Given the description of an element on the screen output the (x, y) to click on. 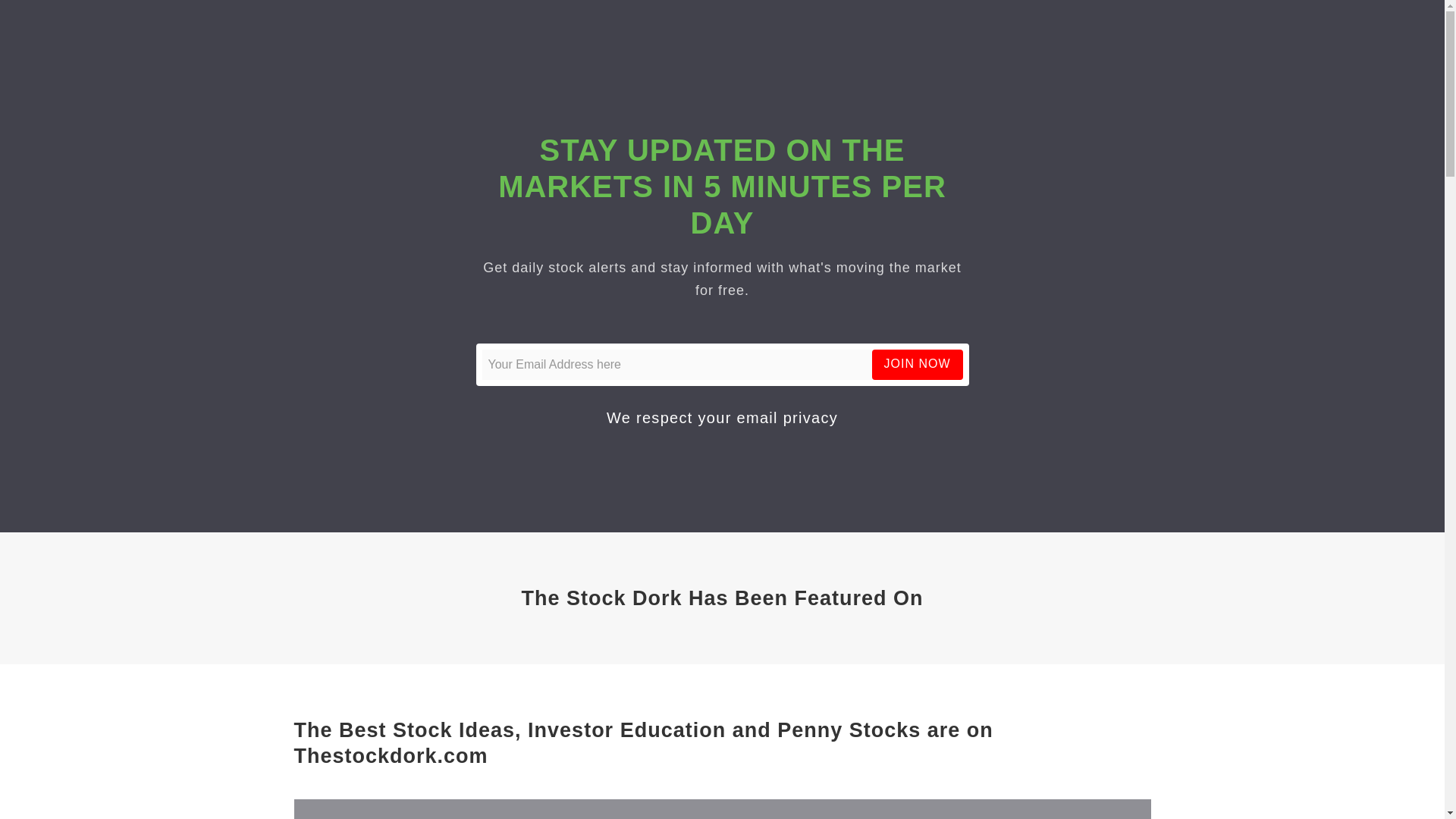
email privacy (787, 417)
Join Now (917, 363)
Join Now (917, 363)
Privacy Policy (787, 417)
